Given the description of an element on the screen output the (x, y) to click on. 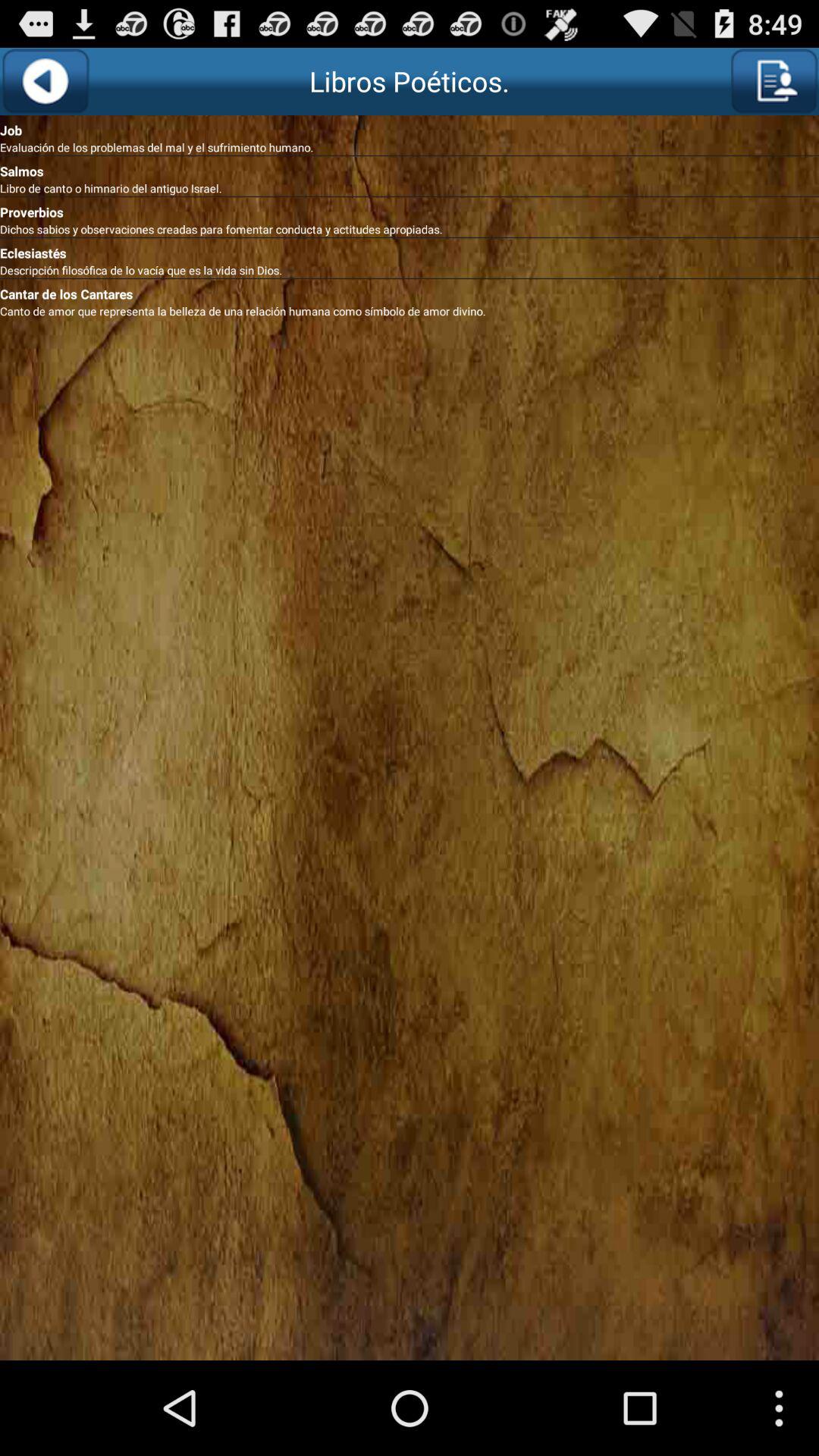
select dichos sabios y item (409, 229)
